Given the description of an element on the screen output the (x, y) to click on. 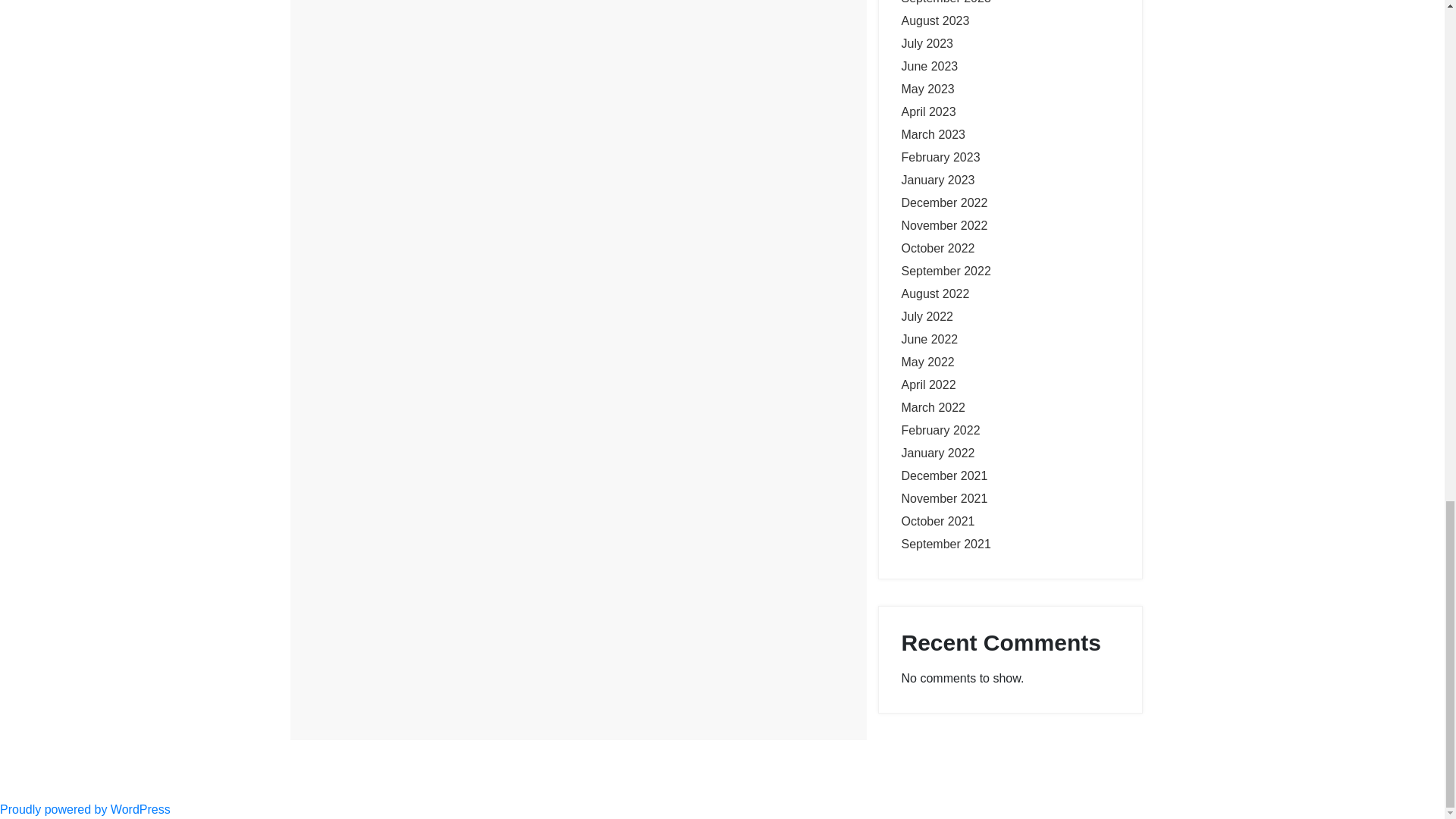
May 2023 (927, 88)
February 2023 (940, 156)
July 2023 (927, 42)
August 2023 (935, 20)
June 2023 (929, 65)
September 2023 (945, 2)
January 2023 (937, 179)
info (352, 120)
October 2022 (937, 247)
April 2023 (928, 111)
